Given the description of an element on the screen output the (x, y) to click on. 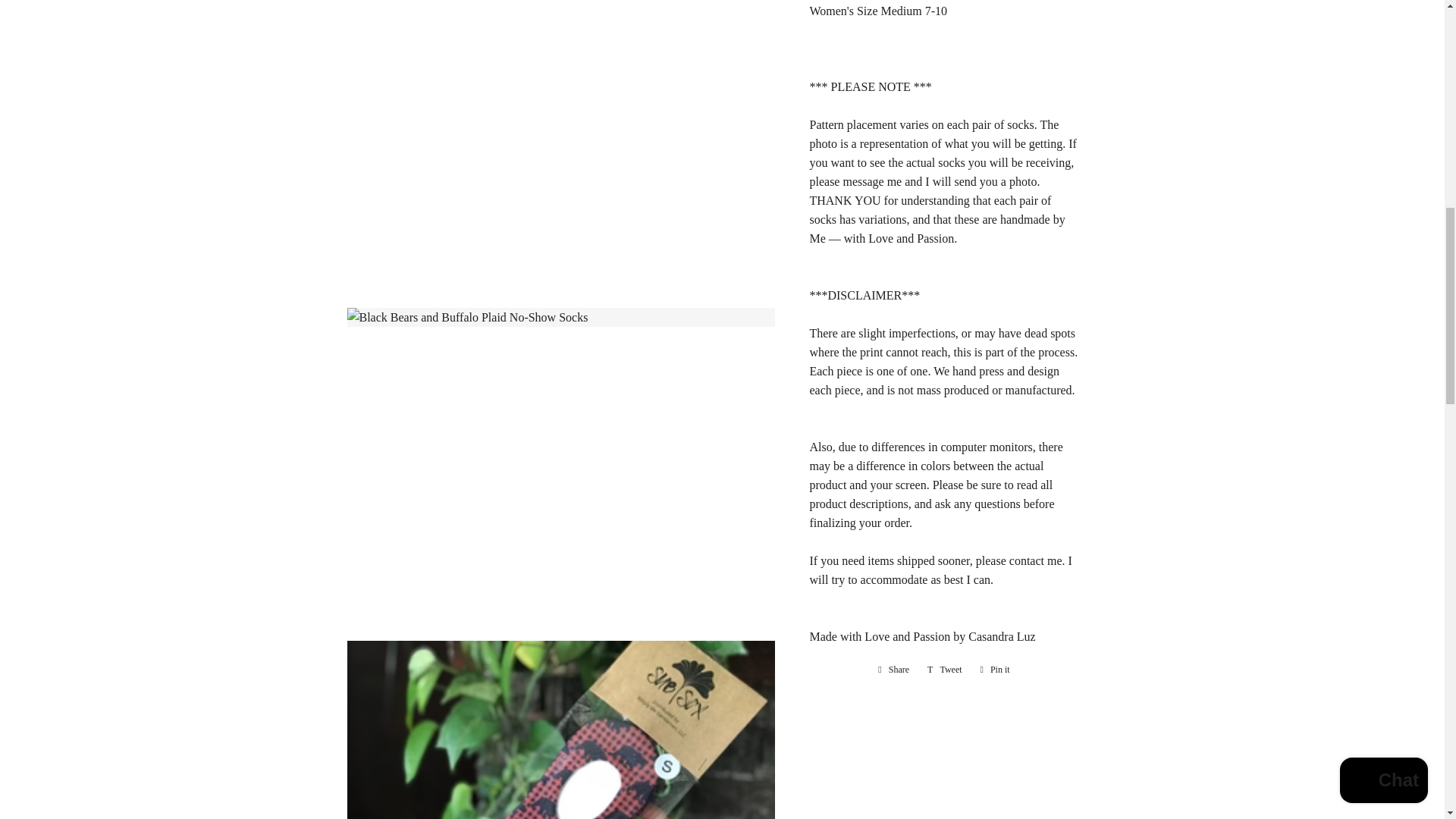
Pin on Pinterest (994, 669)
Share on Facebook (893, 669)
Tweet on Twitter (944, 669)
